Given the description of an element on the screen output the (x, y) to click on. 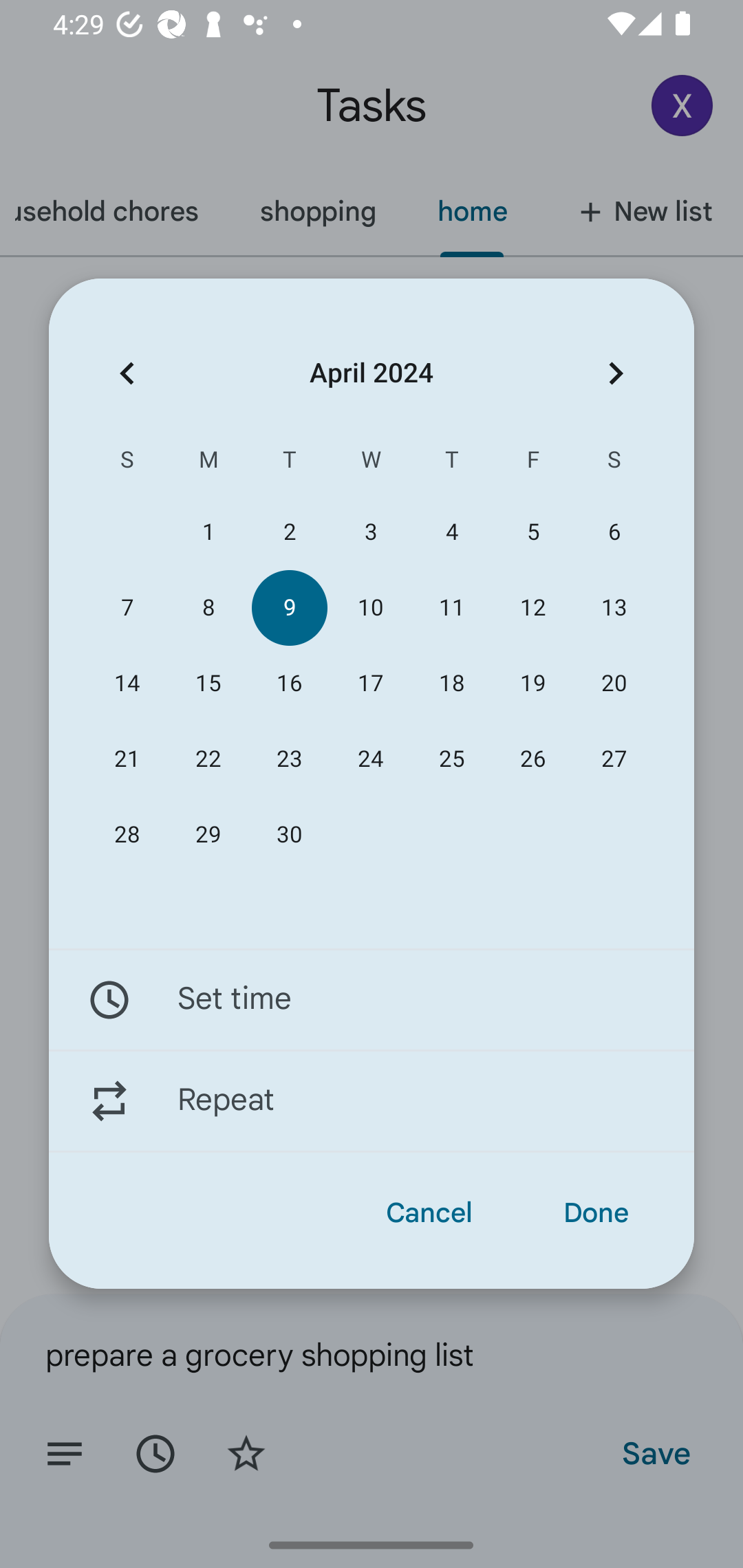
Previous month (126, 372)
Next month (615, 372)
1 01 April 2024 (207, 531)
2 02 April 2024 (288, 531)
3 03 April 2024 (370, 531)
4 04 April 2024 (451, 531)
5 05 April 2024 (532, 531)
6 06 April 2024 (613, 531)
7 07 April 2024 (126, 608)
8 08 April 2024 (207, 608)
9 09 April 2024 (288, 608)
10 10 April 2024 (370, 608)
11 11 April 2024 (451, 608)
12 12 April 2024 (532, 608)
13 13 April 2024 (613, 608)
14 14 April 2024 (126, 683)
15 15 April 2024 (207, 683)
16 16 April 2024 (288, 683)
17 17 April 2024 (370, 683)
18 18 April 2024 (451, 683)
19 19 April 2024 (532, 683)
20 20 April 2024 (613, 683)
21 21 April 2024 (126, 758)
22 22 April 2024 (207, 758)
23 23 April 2024 (288, 758)
24 24 April 2024 (370, 758)
25 25 April 2024 (451, 758)
26 26 April 2024 (532, 758)
27 27 April 2024 (613, 758)
28 28 April 2024 (126, 834)
29 29 April 2024 (207, 834)
30 30 April 2024 (288, 834)
Set time (371, 999)
Repeat (371, 1101)
Cancel (429, 1213)
Done (595, 1213)
